Given the description of an element on the screen output the (x, y) to click on. 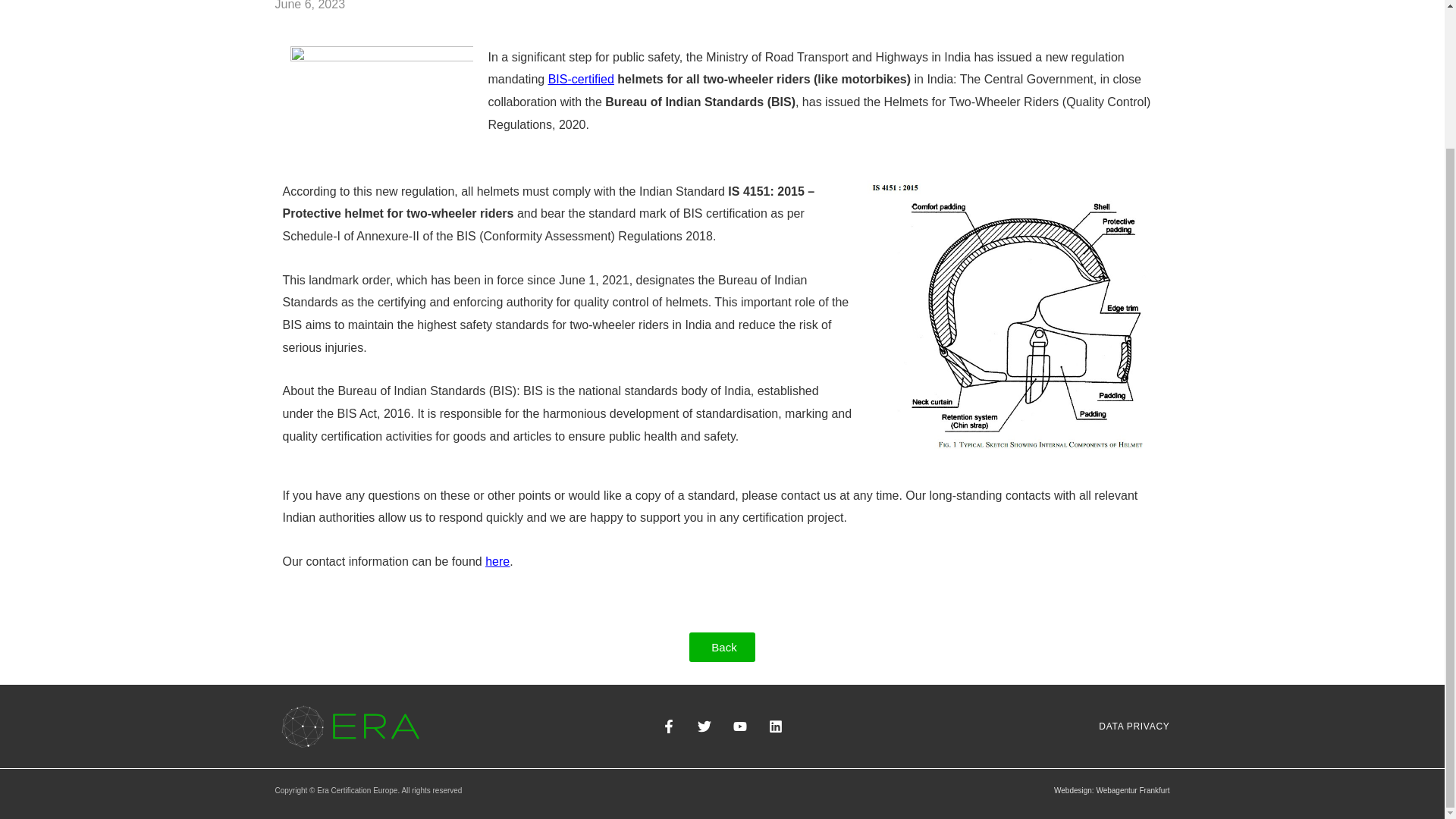
June 6, 2023 (310, 7)
DATA PRIVACY (1129, 726)
BIS-certified (581, 78)
Back (721, 646)
here (496, 561)
Webdesign: Webagentur Frankfurt (1112, 790)
